Given the description of an element on the screen output the (x, y) to click on. 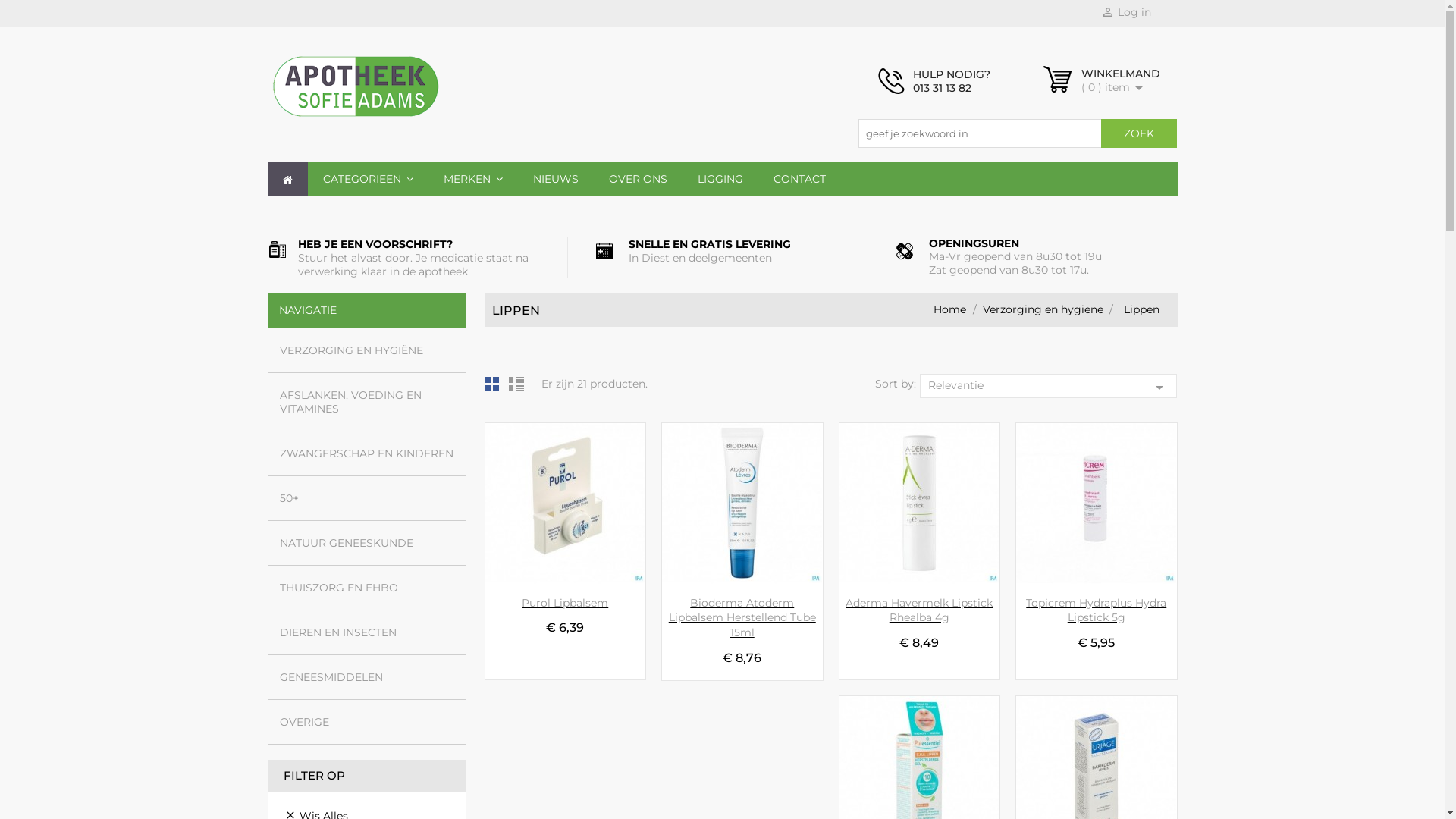
CONTACT Element type: text (799, 179)
GENEESMIDDELEN Element type: text (366, 676)
LIGGING Element type: text (720, 179)
Lippen Element type: text (1141, 309)
Purol Lipbalsem Element type: text (564, 602)
Bioderma Atoderm Lipbalsem Herstellend Tube 15ml Element type: text (741, 618)
AFSLANKEN, VOEDING EN VITAMINES Element type: text (366, 401)
OVERIGE Element type: text (366, 721)
NIEUWS Element type: text (555, 179)
Grid Element type: text (494, 387)
THUISZORG EN EHBO Element type: text (366, 586)
Topicrem Hydraplus Hydra Lipstick 5g Element type: text (1096, 610)
In Diest en deelgemeenten Element type: text (699, 257)
ZWANGERSCHAP EN KINDEREN Element type: text (366, 452)
OVER ONS Element type: text (637, 179)
HEB JE EEN VOORSCHRIFT? Element type: text (374, 244)
NATUUR GENEESKUNDE Element type: text (366, 542)
SNELLE EN GRATIS LEVERING Element type: text (708, 244)
Verzorging en hygiene Element type: text (1044, 309)
ZOEK Element type: text (1138, 133)
Home Element type: text (951, 309)
MERKEN Element type: text (472, 179)
50+ Element type: text (366, 497)
Aderma Havermelk Lipstick Rhealba 4g Element type: text (918, 610)
Lijst Element type: text (517, 387)
DIEREN EN INSECTEN Element type: text (366, 631)
